Given the description of an element on the screen output the (x, y) to click on. 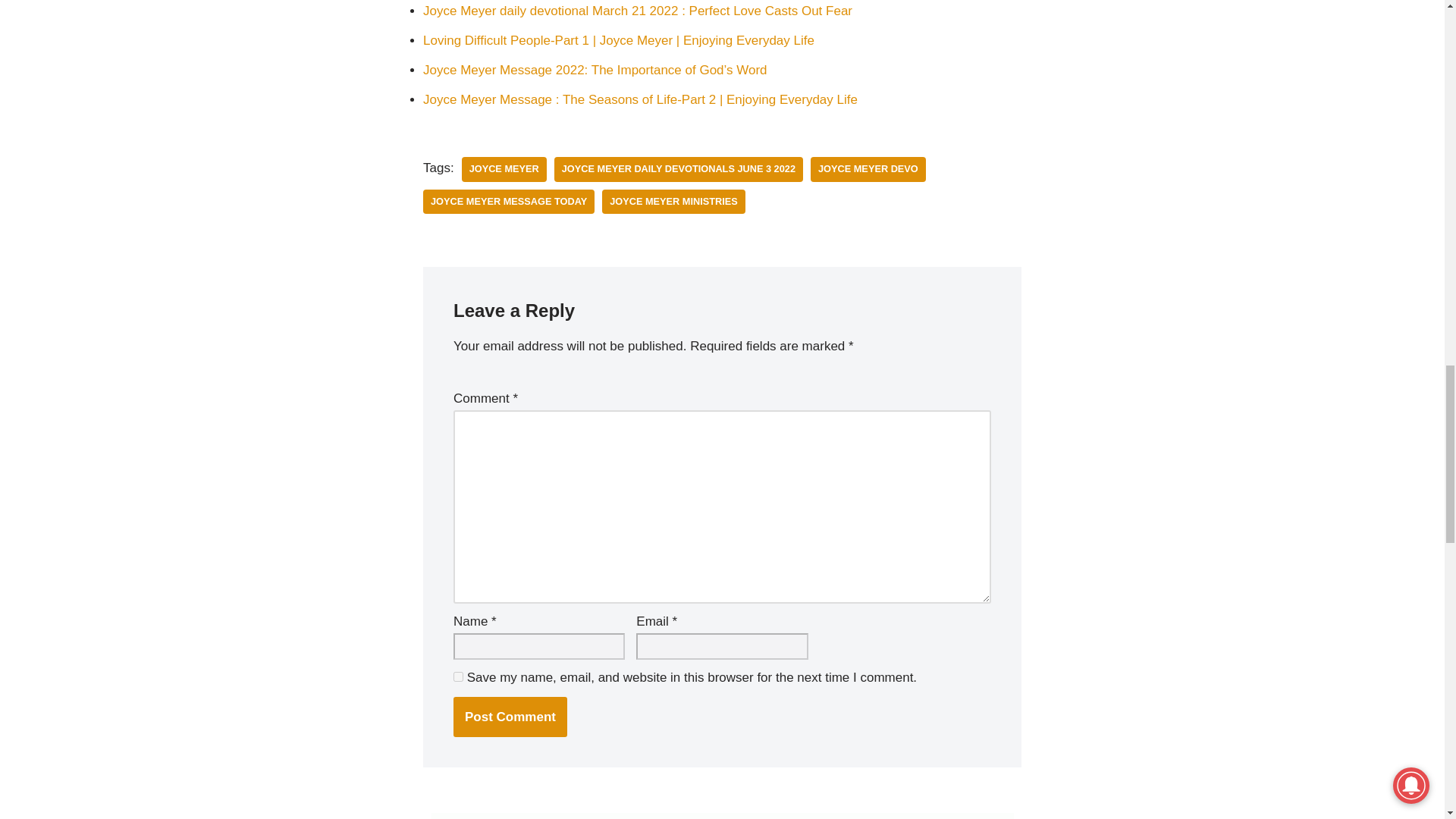
Joyce Meyer Daily Devotionals June 3 2022 (678, 169)
JOYCE MEYER MINISTRIES (673, 201)
JOYCE MEYER MESSAGE TODAY (508, 201)
Joyce Meyer (504, 169)
JOYCE MEYER DAILY DEVOTIONALS JUNE 3 2022 (678, 169)
Post Comment (509, 716)
JOYCE MEYER (504, 169)
yes (457, 676)
Joyce Meyer Devo (868, 169)
JOYCE MEYER DEVO (868, 169)
